Given the description of an element on the screen output the (x, y) to click on. 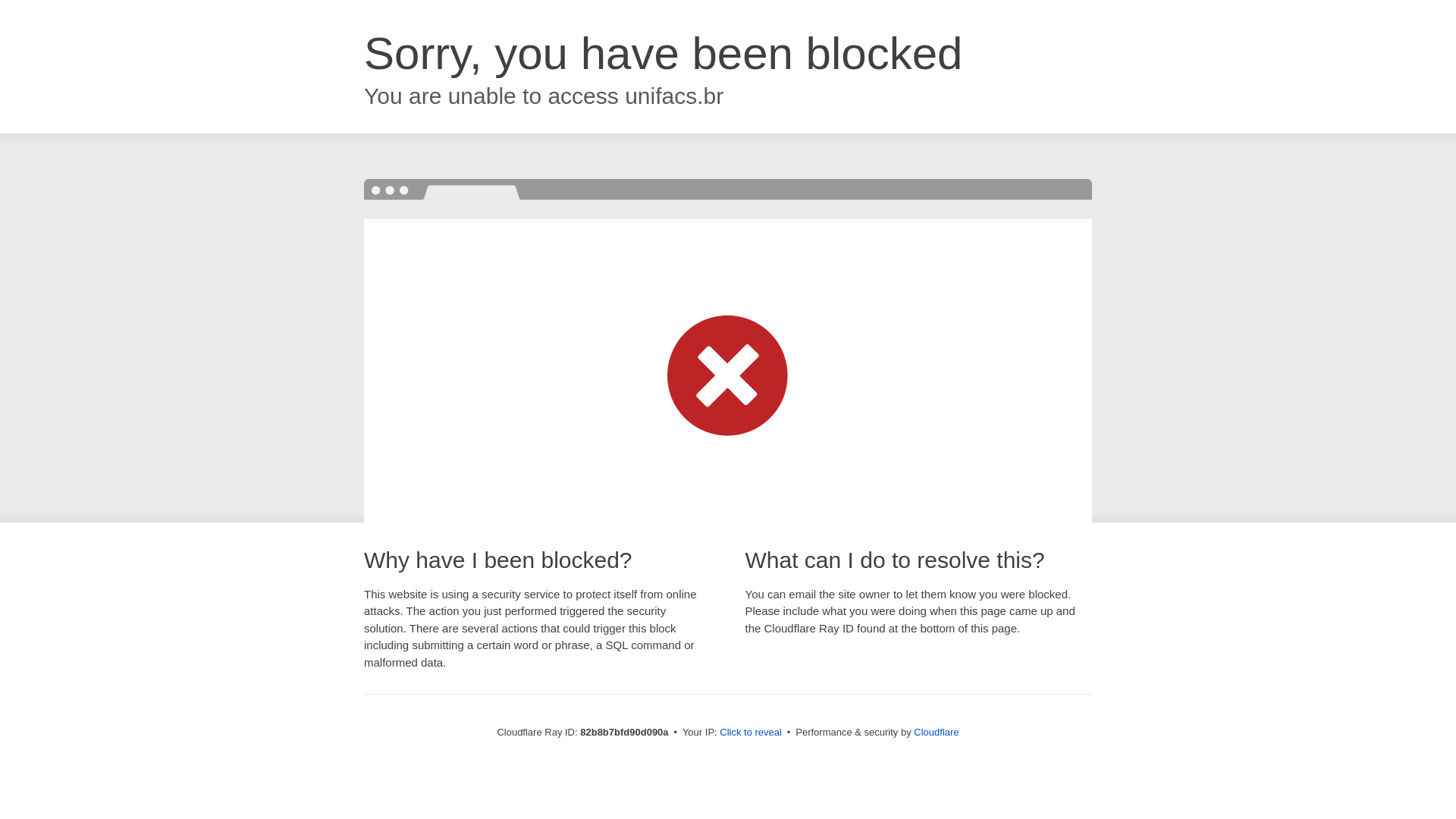
Click to reveal Element type: text (750, 732)
Cloudflare Element type: text (935, 731)
